Given the description of an element on the screen output the (x, y) to click on. 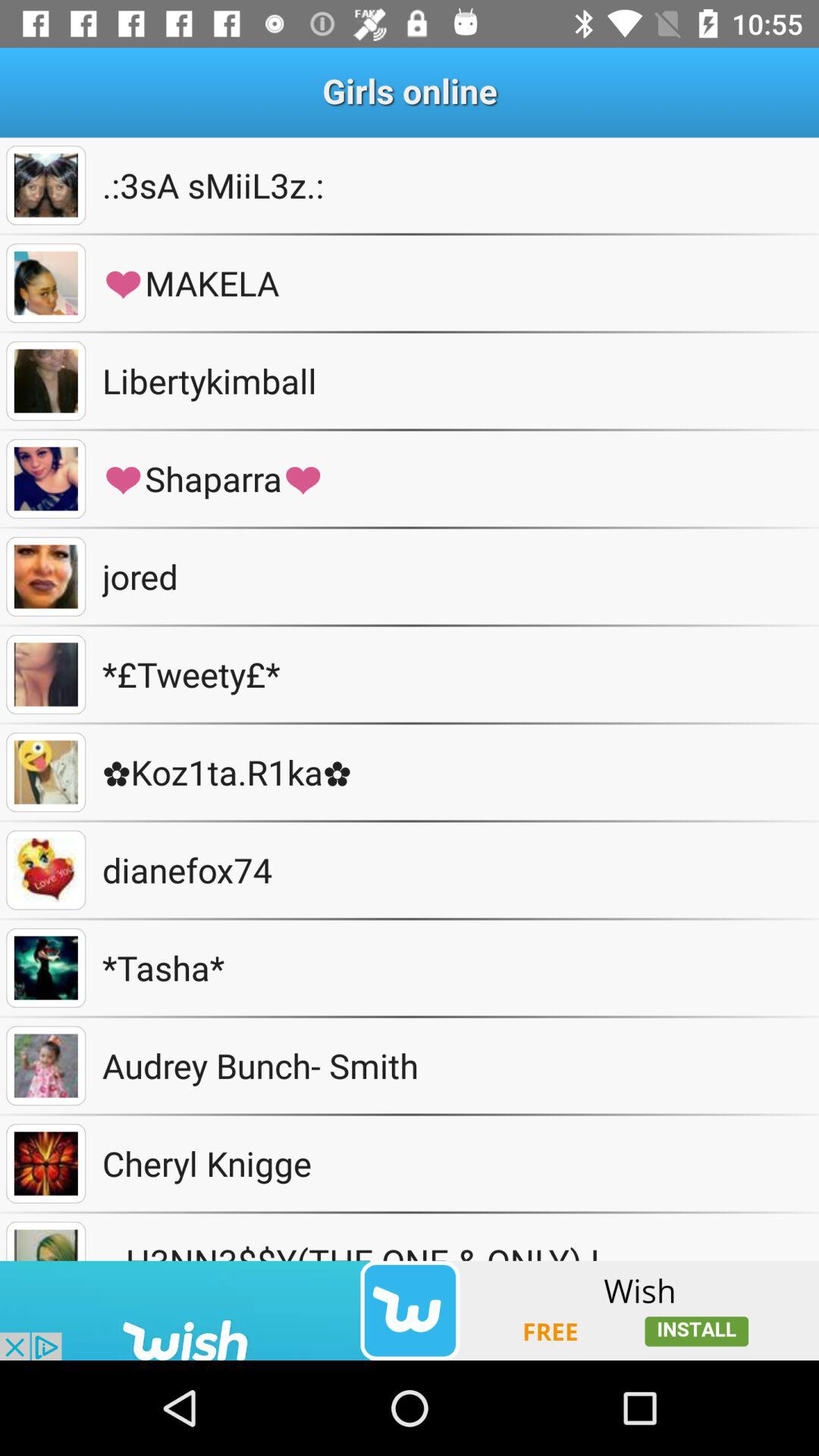
see the profile (45, 870)
